Given the description of an element on the screen output the (x, y) to click on. 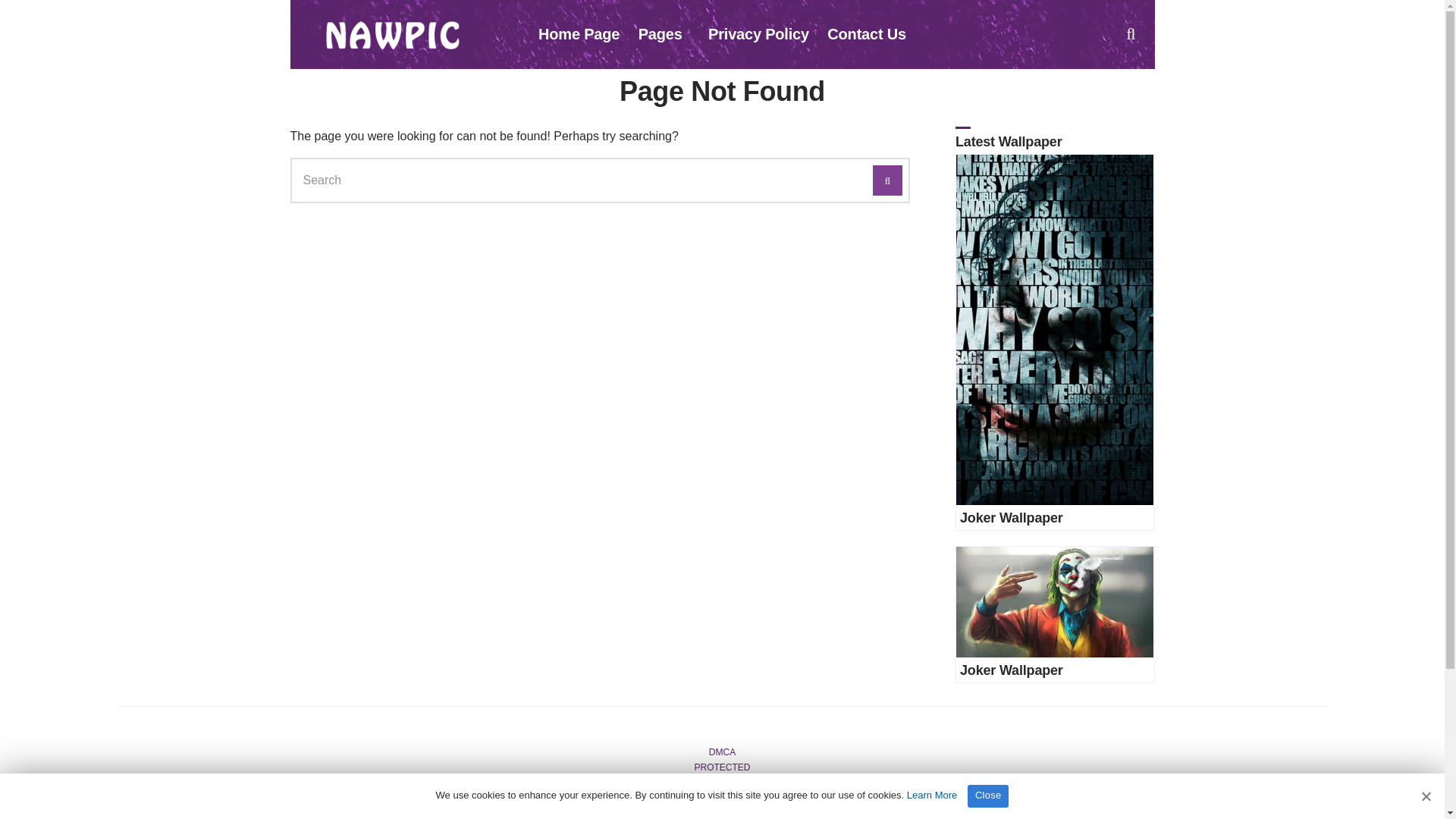
Privacy Policy (758, 34)
Joker Wallpaper (1054, 329)
Pages (664, 34)
Contact Us (866, 34)
Joker Wallpaper (1010, 670)
DMCA (722, 751)
Learn More (931, 794)
PROTECTED (721, 766)
Open search box (1130, 33)
Joker Wallpaper (1010, 670)
Joker Wallpaper (1010, 517)
Close (988, 795)
Search (887, 180)
NawPic (392, 34)
DMCA (722, 751)
